Given the description of an element on the screen output the (x, y) to click on. 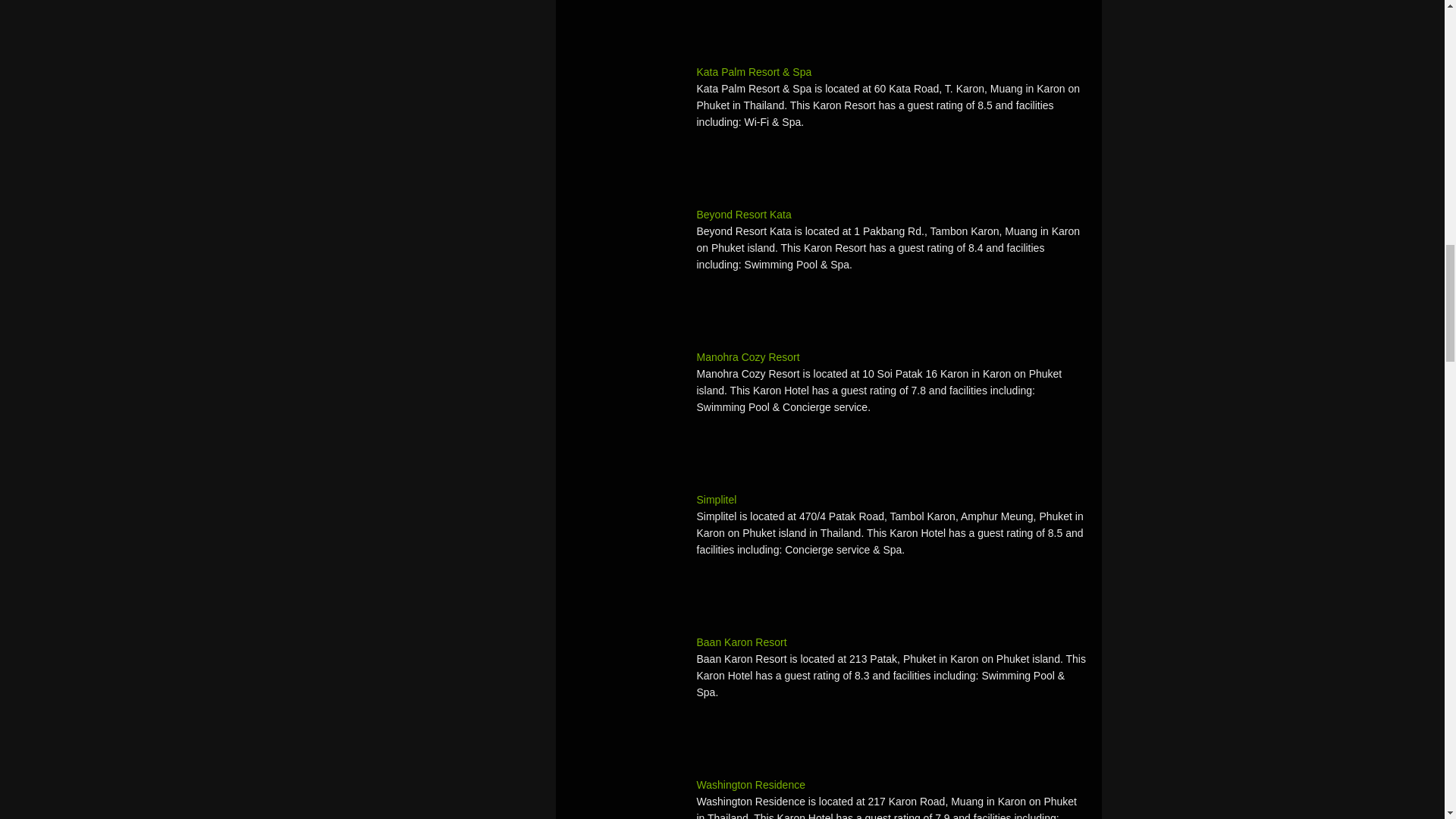
Manohra Cozy Resort (828, 356)
Manohra Cozy Resort (627, 405)
Beyond Resort Kata (828, 214)
Simplitel (828, 499)
Washington Residence (627, 797)
Patong Buri Resort Hotel (627, 17)
Baan Karon Resort (828, 641)
Baan Karon Resort (627, 690)
Beyond Resort Kata (627, 263)
Simplitel (627, 548)
